Given the description of an element on the screen output the (x, y) to click on. 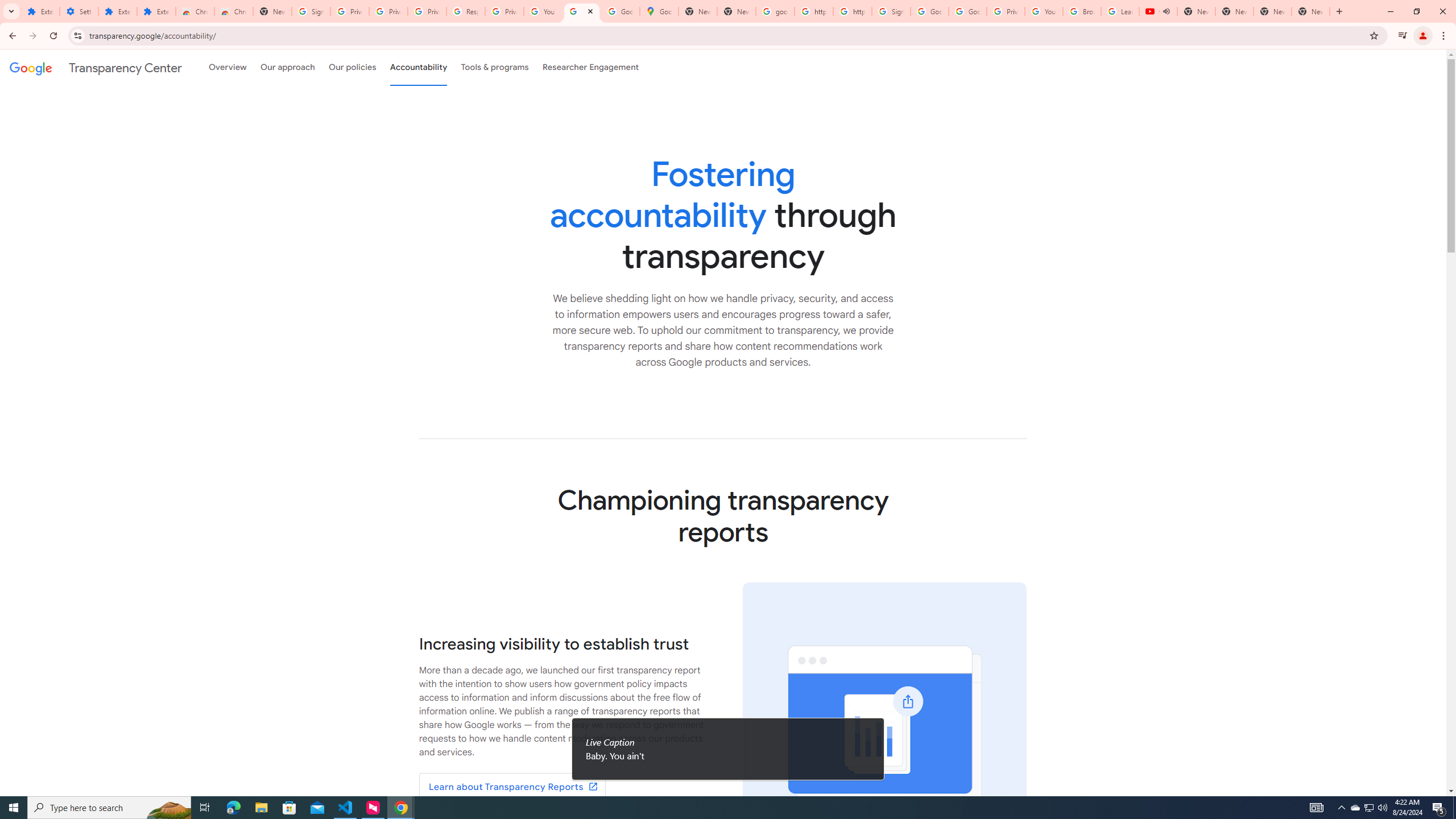
Sign in - Google Accounts (310, 11)
Settings (79, 11)
Mute tab (1165, 10)
Our approach (287, 67)
Go to Transparency Report About web page (512, 786)
